Given the description of an element on the screen output the (x, y) to click on. 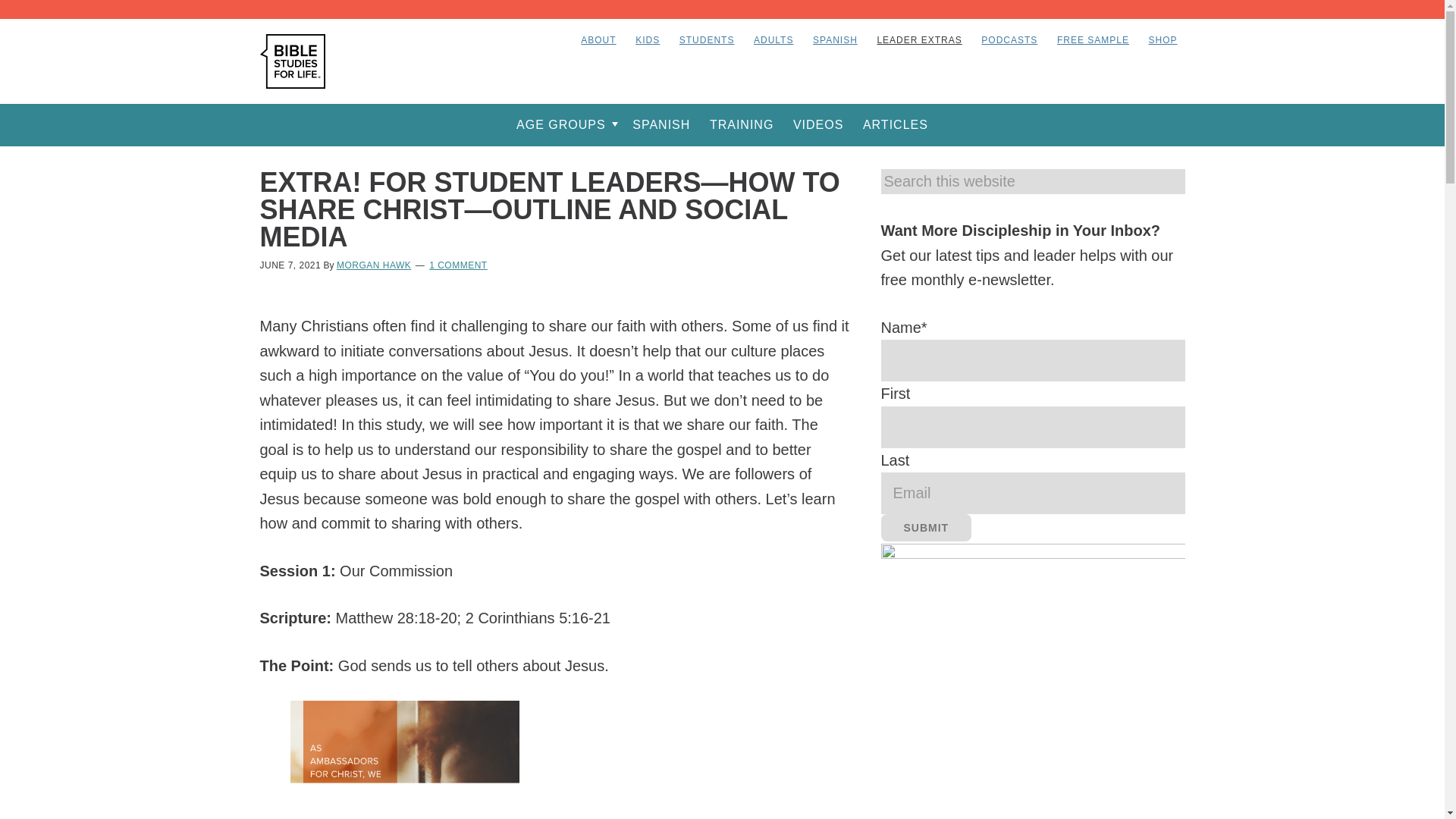
VIDEOS (818, 124)
1 COMMENT (458, 264)
TRAINING (740, 124)
ABOUT (598, 39)
Submit (926, 527)
Search (1171, 180)
Submit (926, 527)
ADULTS (772, 39)
SHOP (1162, 39)
AGE GROUPS (564, 124)
